Given the description of an element on the screen output the (x, y) to click on. 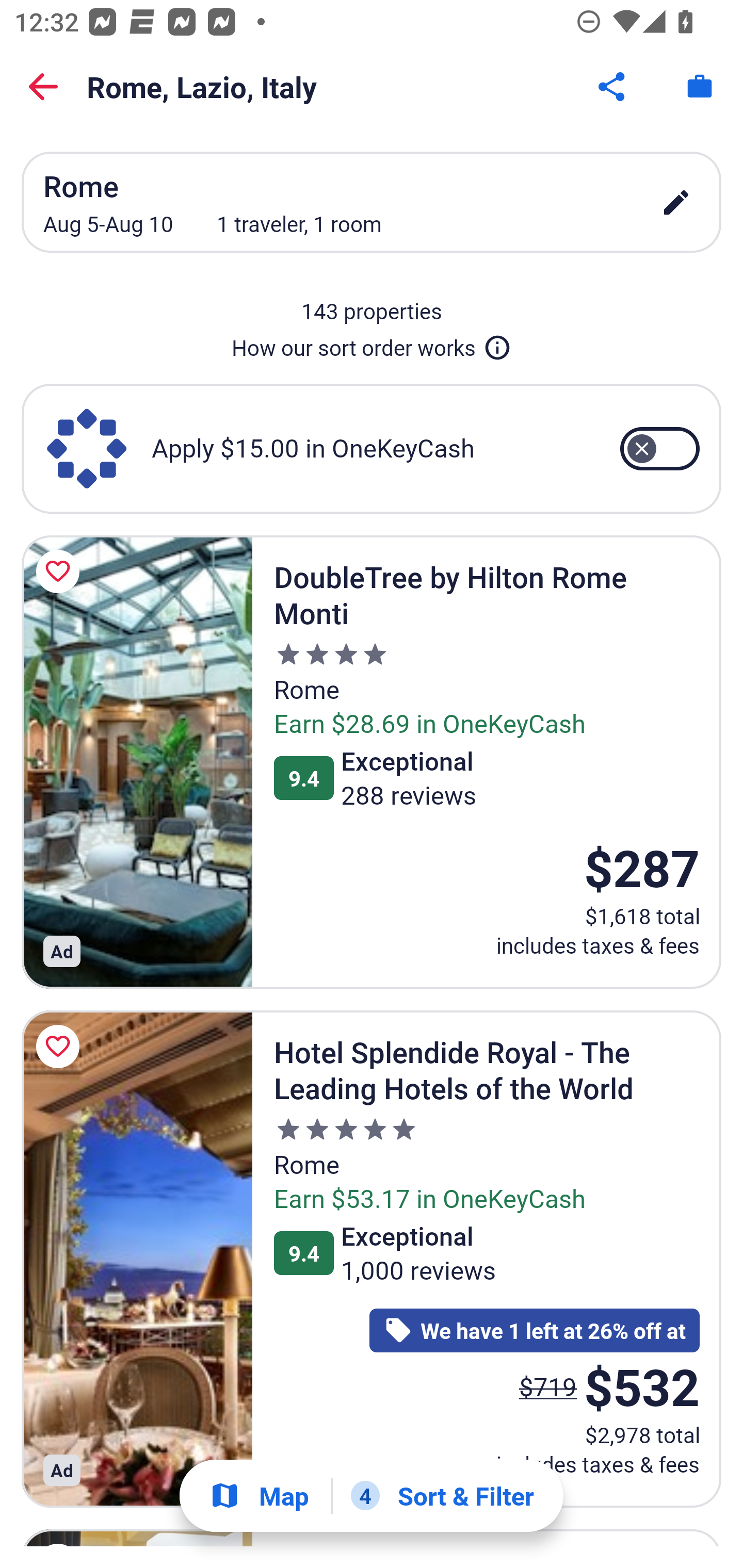
Back (43, 86)
Share Button (612, 86)
Trips. Button (699, 86)
Rome Aug 5-Aug 10 1 traveler, 1 room edit (371, 202)
How our sort order works (371, 344)
Save DoubleTree by Hilton Rome Monti to a trip (61, 571)
DoubleTree by Hilton Rome Monti (136, 761)
$719 The price was $719 (547, 1386)
4 Sort & Filter 4 Filters applied. Filters Button (442, 1495)
Show map Map Show map Button (258, 1495)
